Given the description of an element on the screen output the (x, y) to click on. 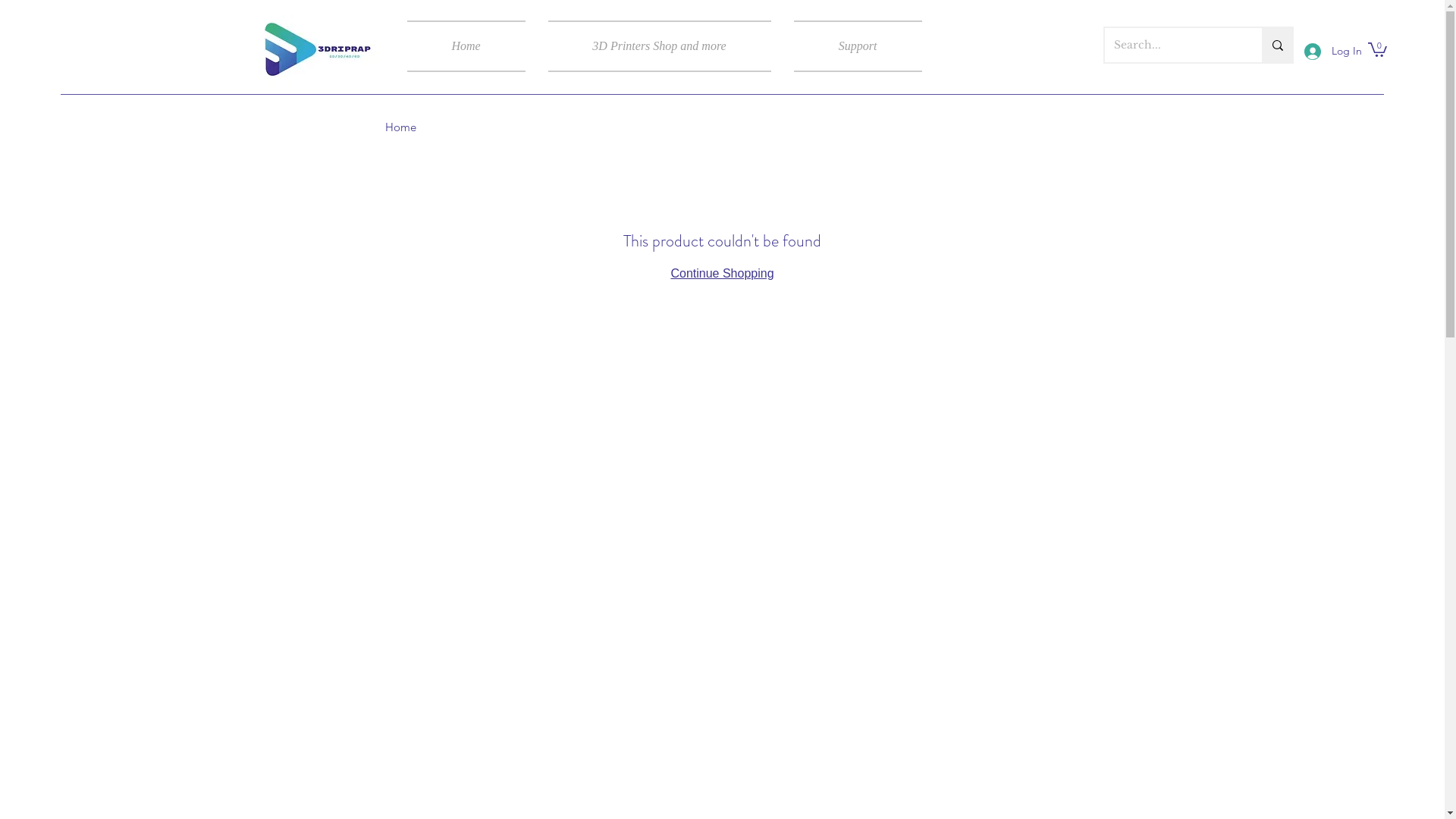
3D Printers Shop and more Element type: text (659, 46)
Continue Shopping Element type: text (721, 272)
Log In Element type: text (1328, 51)
Home Element type: text (471, 46)
0 Element type: text (1377, 48)
Support Element type: text (852, 46)
Home Element type: text (400, 126)
